Given the description of an element on the screen output the (x, y) to click on. 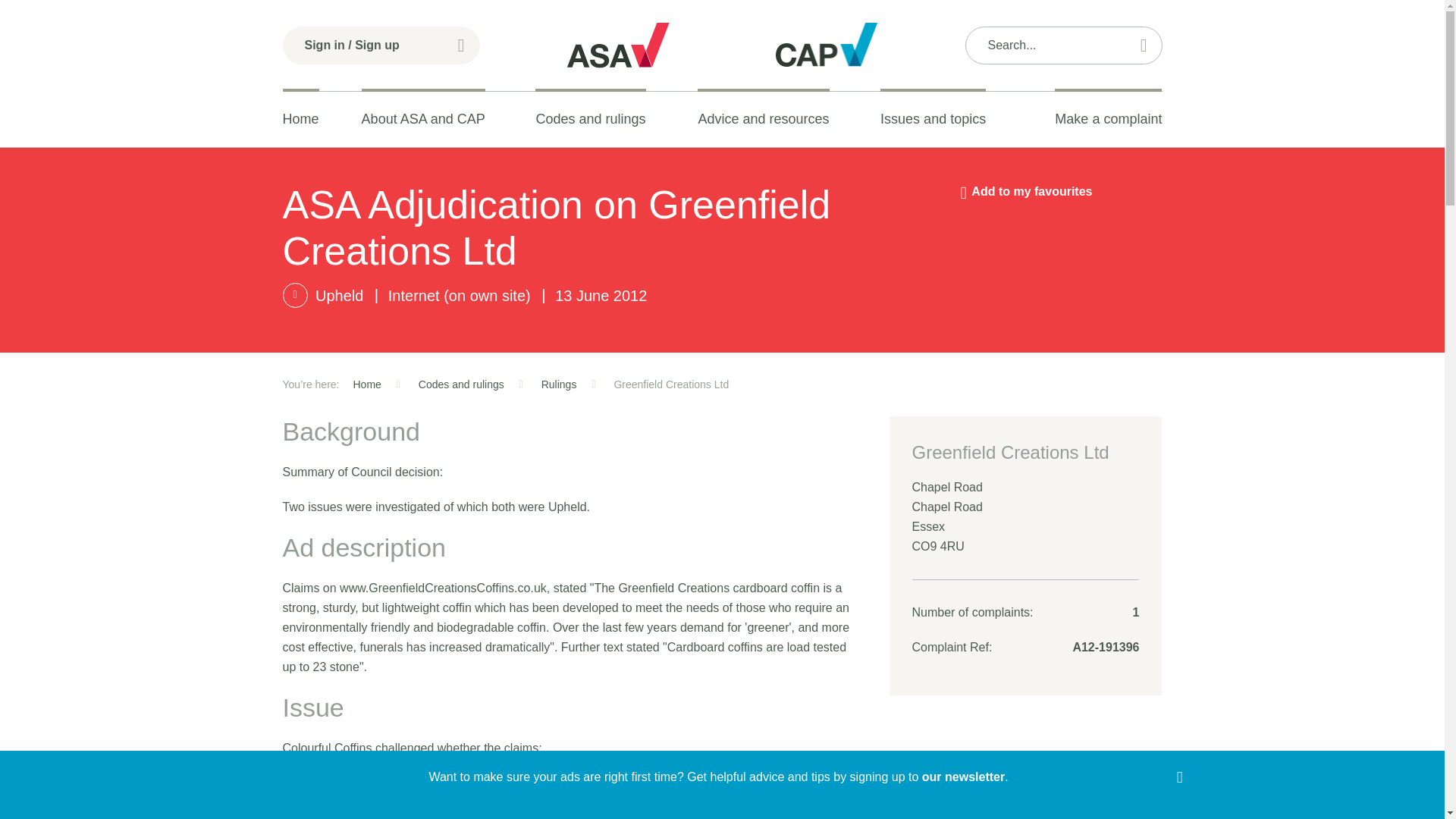
Codes and rulings (590, 119)
About ASA and CAP (422, 119)
Issues and topics (932, 119)
Advice and resources (762, 119)
